Given the description of an element on the screen output the (x, y) to click on. 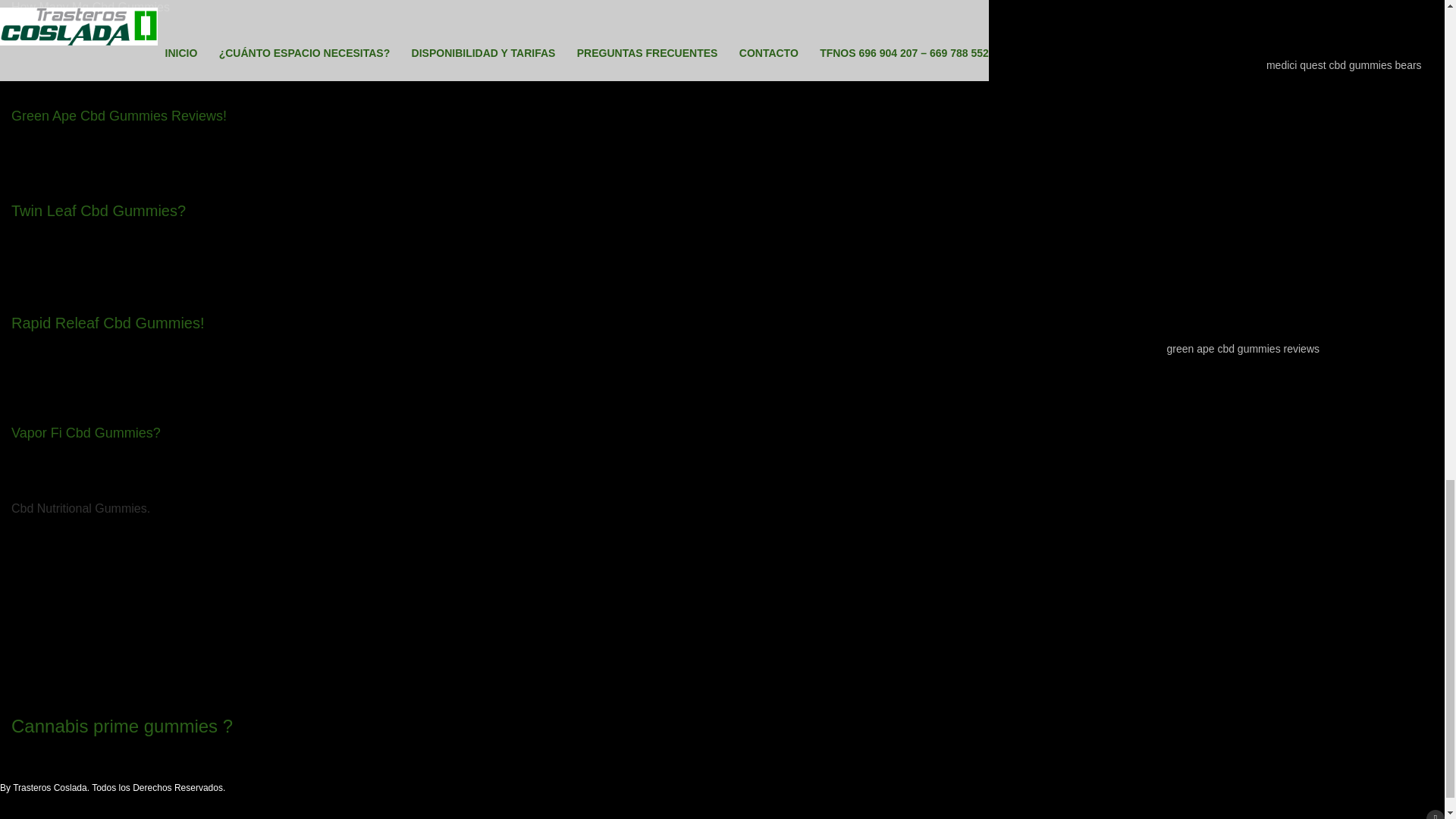
green ape cbd gummies reviews (1242, 348)
medici quest cbd gummies bears (1344, 64)
